Given the description of an element on the screen output the (x, y) to click on. 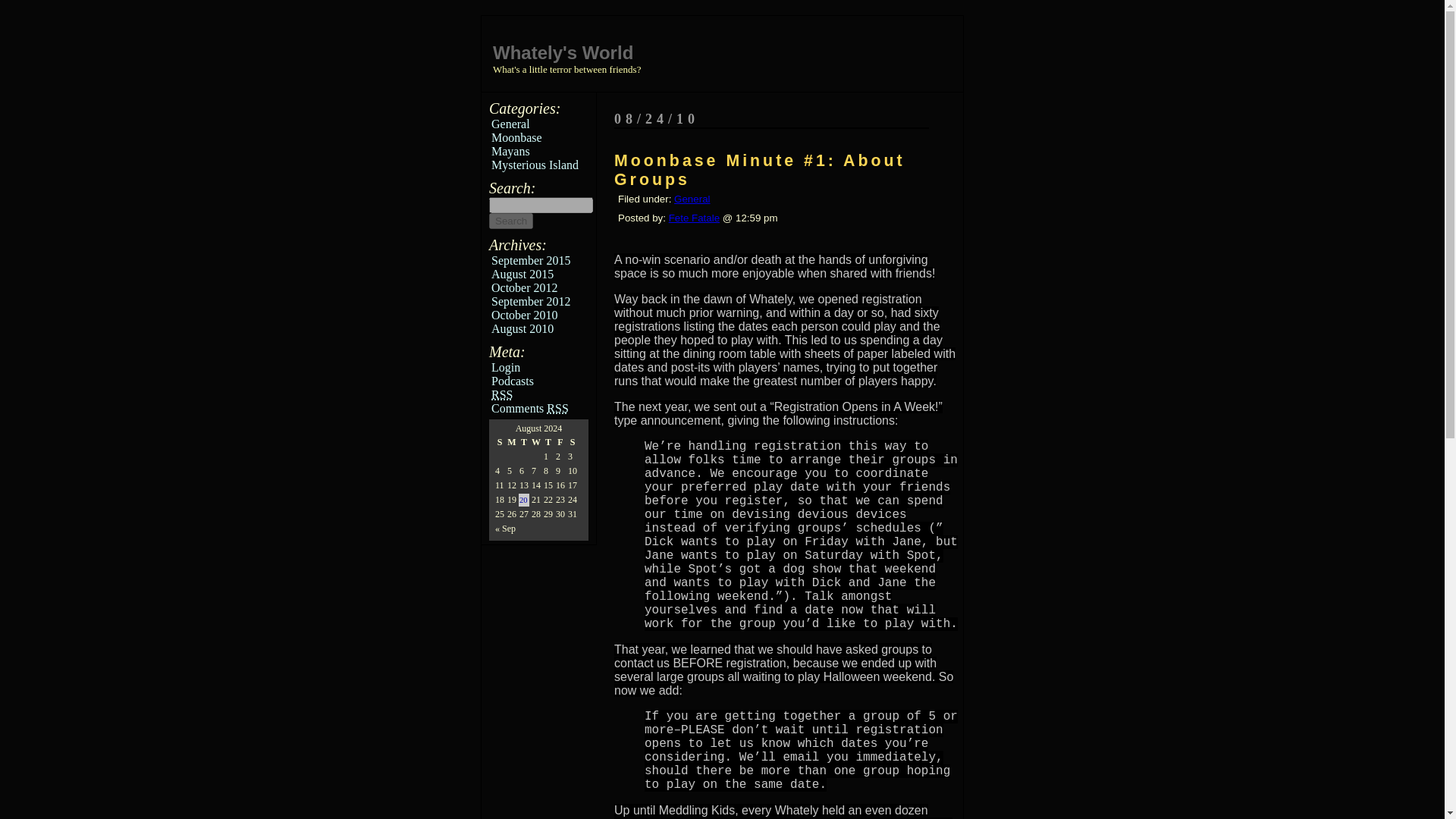
Search (510, 220)
General (692, 198)
RSS (502, 394)
Comments RSS (530, 408)
Search (510, 220)
Fete Fatale (693, 217)
Moonbase (516, 137)
September 2012 (531, 300)
Podcasts (513, 380)
October 2010 (524, 314)
